Given the description of an element on the screen output the (x, y) to click on. 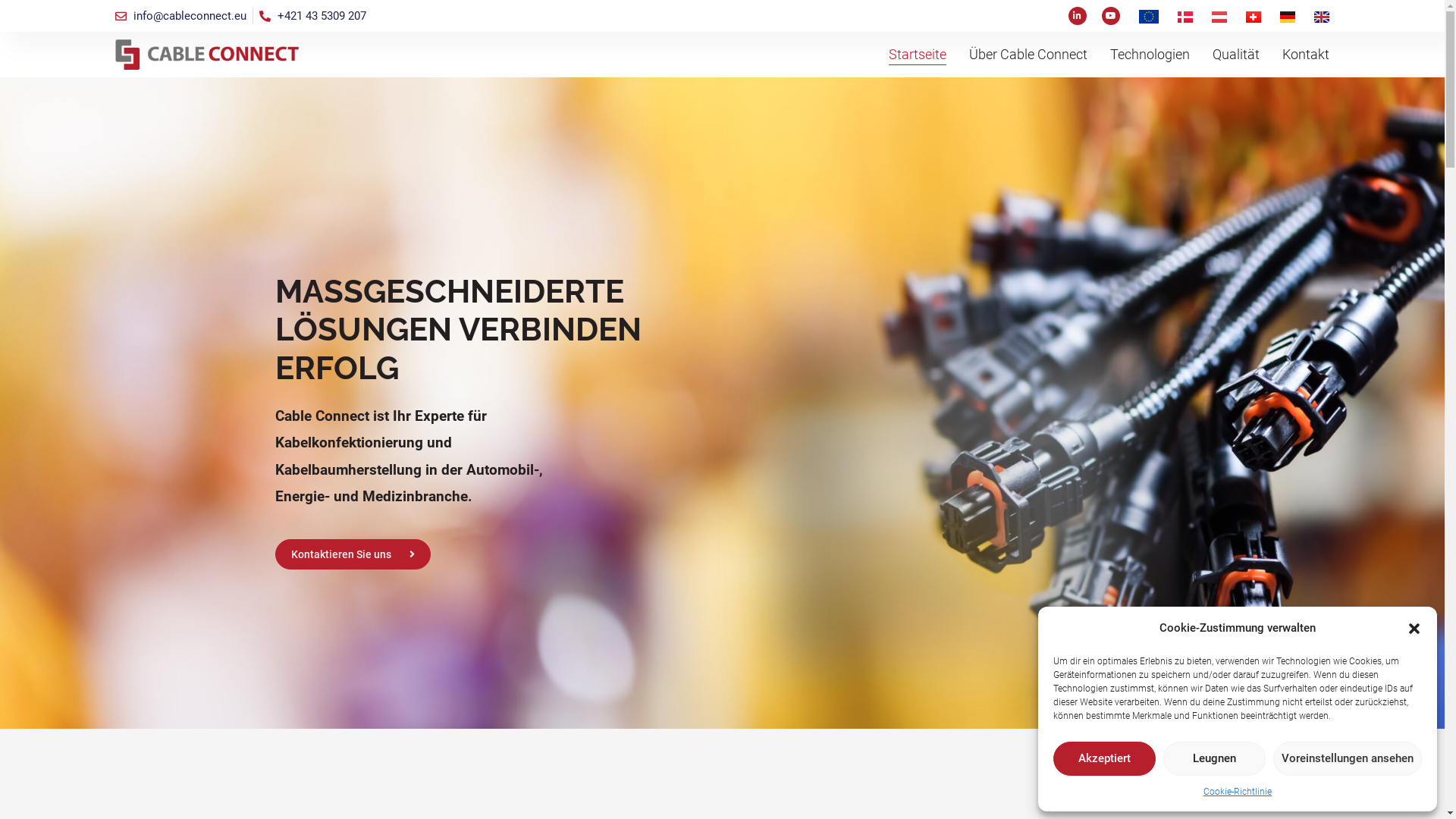
Kontaktieren Sie uns Element type: text (351, 554)
Akzeptiert Element type: text (1104, 758)
info@cableconnect.eu Element type: text (180, 16)
Voreinstellungen ansehen Element type: text (1347, 758)
Technologien Element type: text (1149, 54)
+421 43 5309 207 Element type: text (312, 16)
Kontakt Element type: text (1305, 54)
Cookie-Richtlinie Element type: text (1237, 791)
Startseite Element type: text (917, 54)
Leugnen Element type: text (1214, 758)
